Given the description of an element on the screen output the (x, y) to click on. 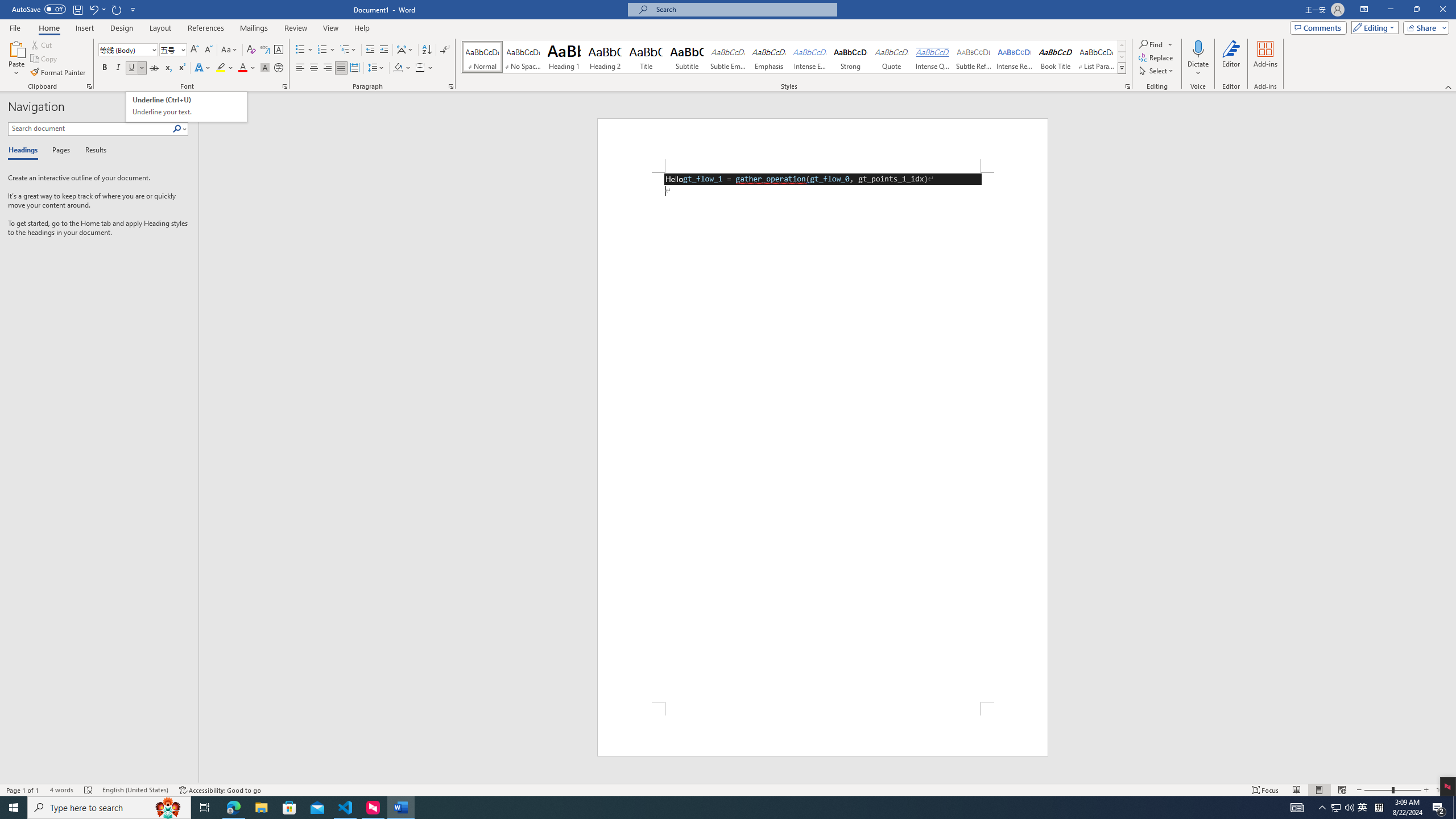
Intense Emphasis (809, 56)
Page 1 content (186, 106)
